Given the description of an element on the screen output the (x, y) to click on. 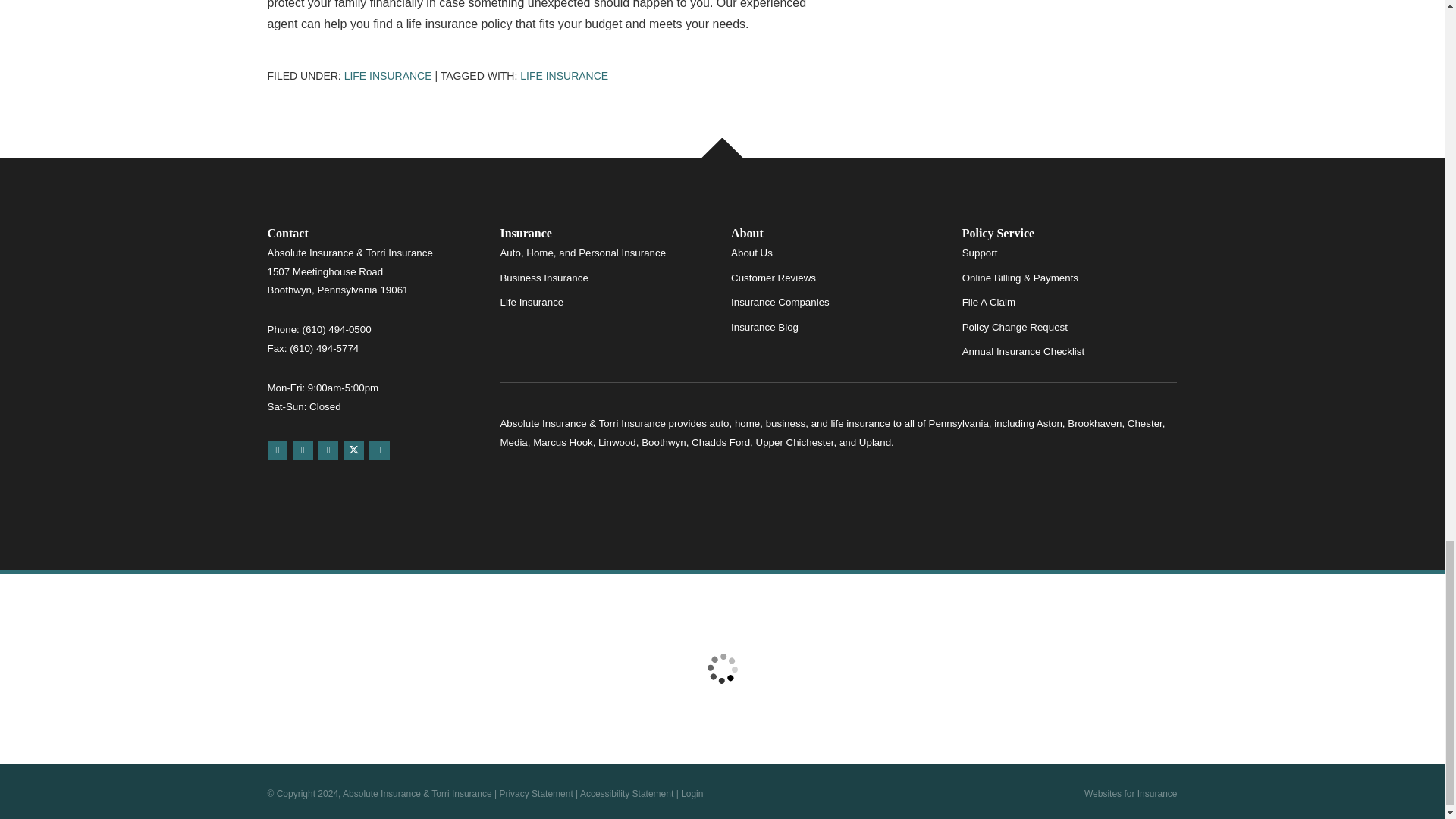
Life Insurance (387, 75)
Yelp (302, 450)
Life Insurance (563, 75)
X (353, 450)
Google Maps (276, 450)
Facebook (328, 450)
LinkedIn (379, 450)
